Given the description of an element on the screen output the (x, y) to click on. 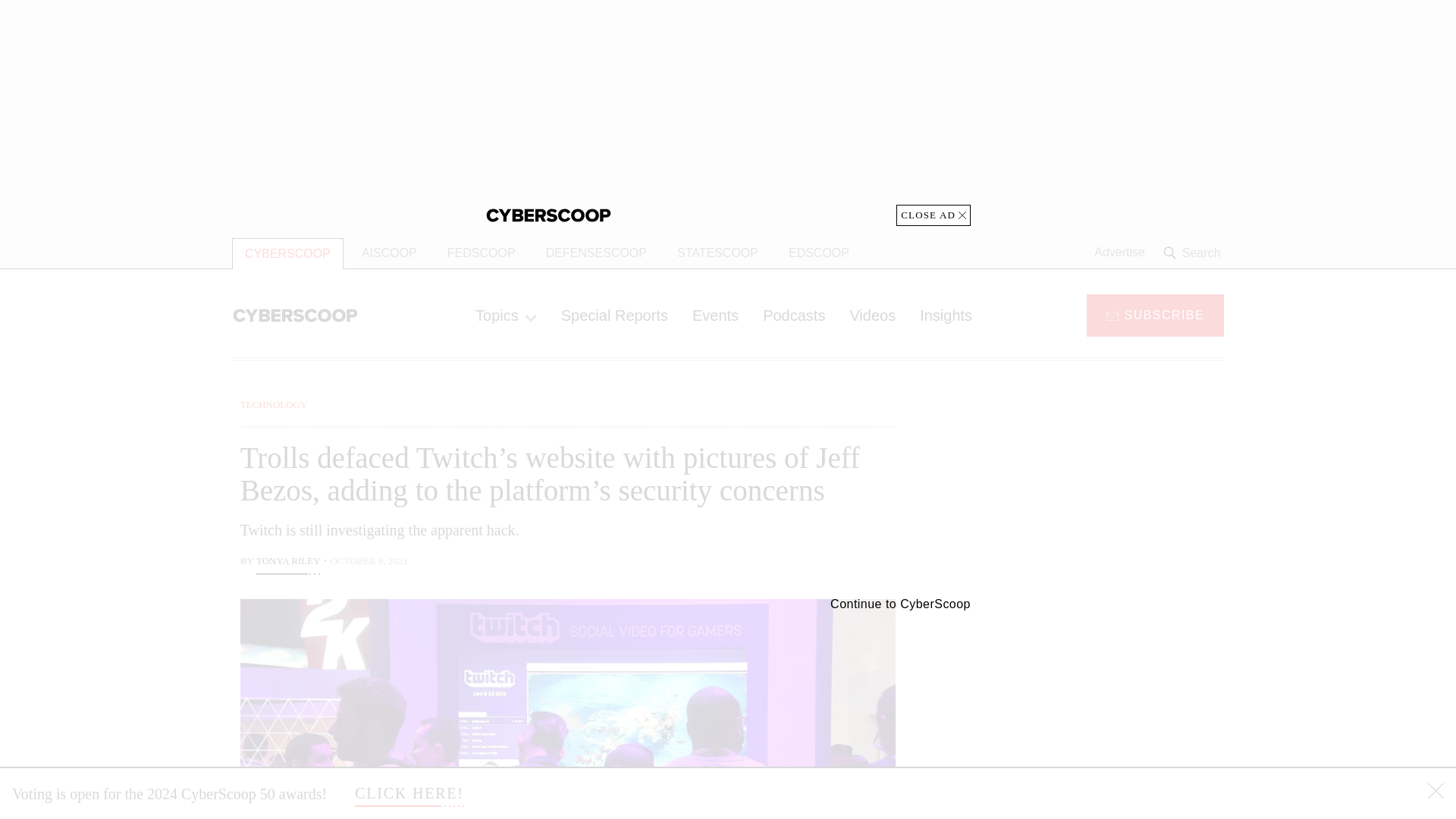
3rd party ad content (727, 113)
CLICK HERE! (409, 793)
Podcasts (794, 315)
STATESCOOP (717, 253)
3rd party ad content (1101, 492)
AISCOOP (389, 253)
3rd party ad content (1101, 705)
Videos (872, 315)
CYBERSCOOP (287, 253)
Topics (505, 315)
FEDSCOOP (481, 253)
EDSCOOP (818, 253)
DEFENSESCOOP (596, 253)
Tonya Riley (288, 562)
